Given the description of an element on the screen output the (x, y) to click on. 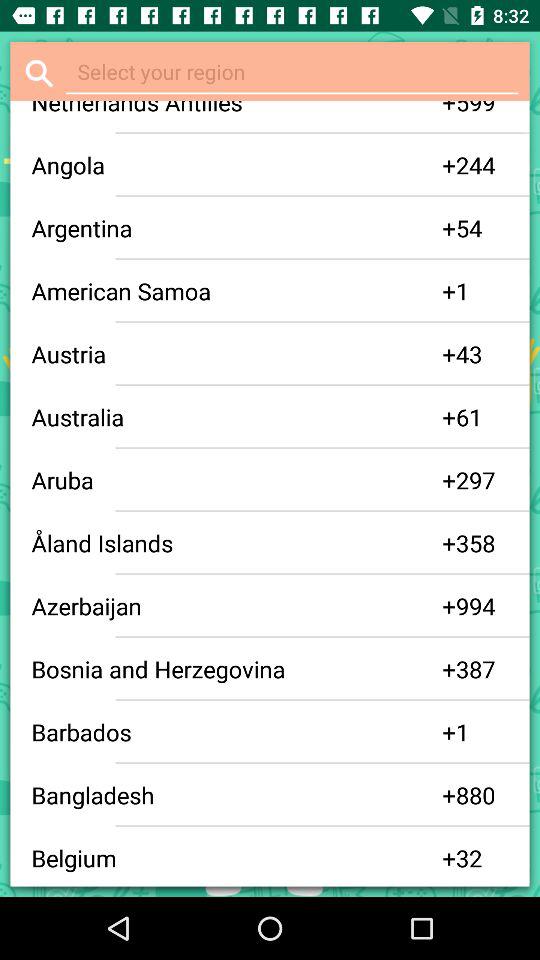
select the item to the right of + (482, 109)
